Given the description of an element on the screen output the (x, y) to click on. 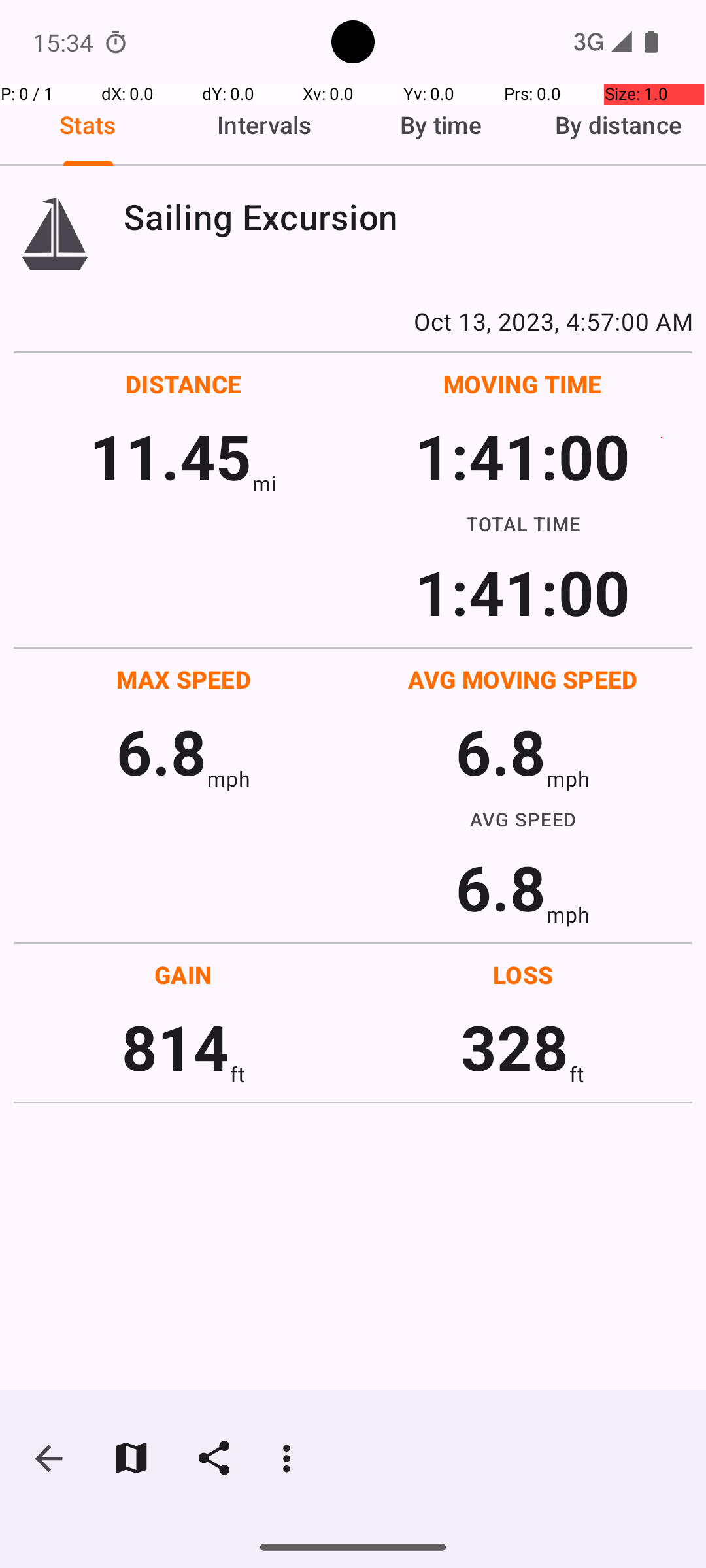
Sailing Excursion Element type: android.widget.TextView (407, 216)
Oct 13, 2023, 4:57:00 AM Element type: android.widget.TextView (352, 320)
11.45 Element type: android.widget.TextView (170, 455)
1:41:00 Element type: android.widget.TextView (522, 455)
6.8 Element type: android.widget.TextView (161, 750)
814 Element type: android.widget.TextView (175, 1045)
328 Element type: android.widget.TextView (514, 1045)
